Given the description of an element on the screen output the (x, y) to click on. 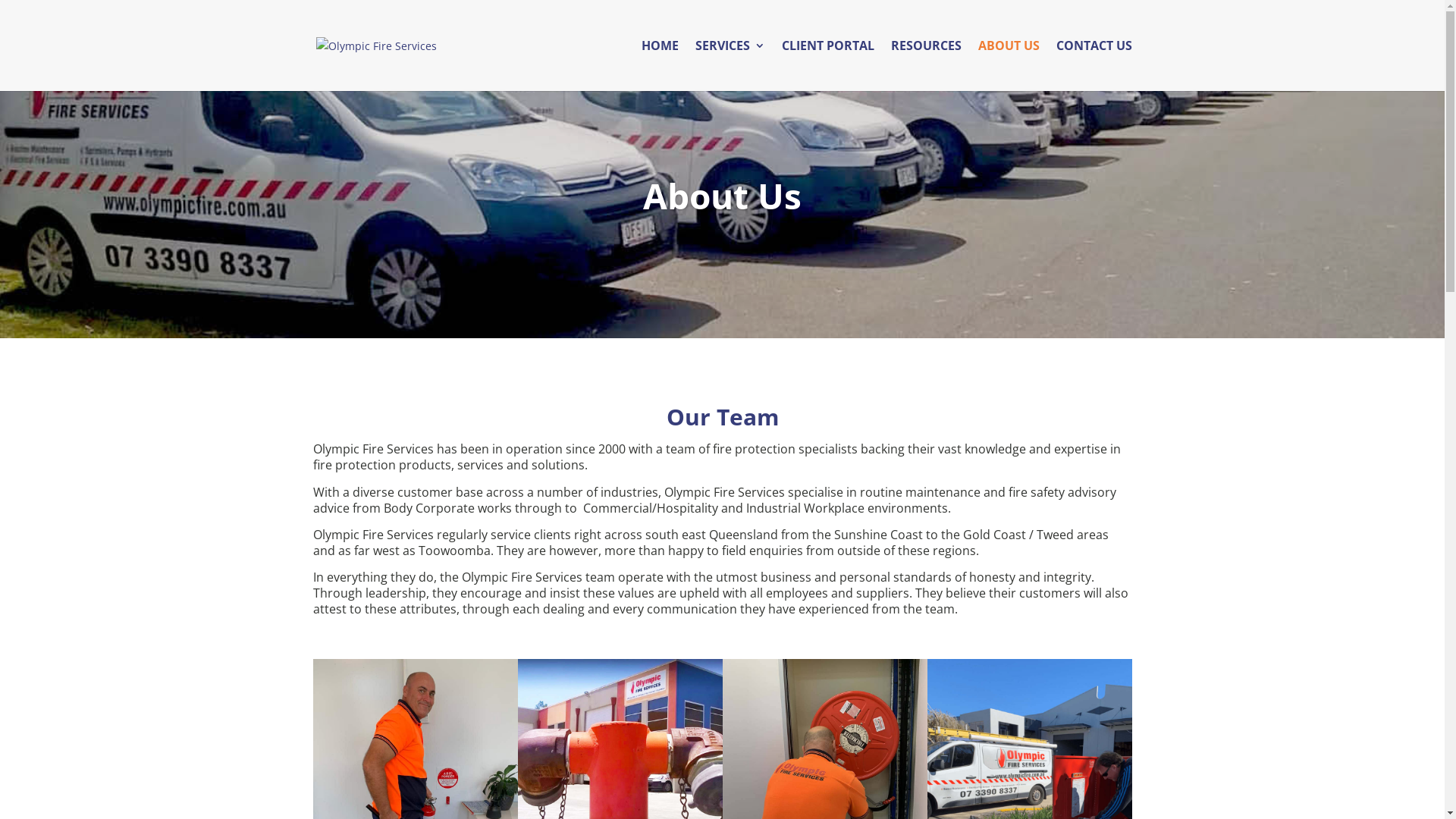
HOME Element type: text (659, 65)
ABOUT US Element type: text (1008, 65)
CLIENT PORTAL Element type: text (827, 65)
CONTACT US Element type: text (1093, 65)
RESOURCES Element type: text (925, 65)
SERVICES Element type: text (729, 65)
